Given the description of an element on the screen output the (x, y) to click on. 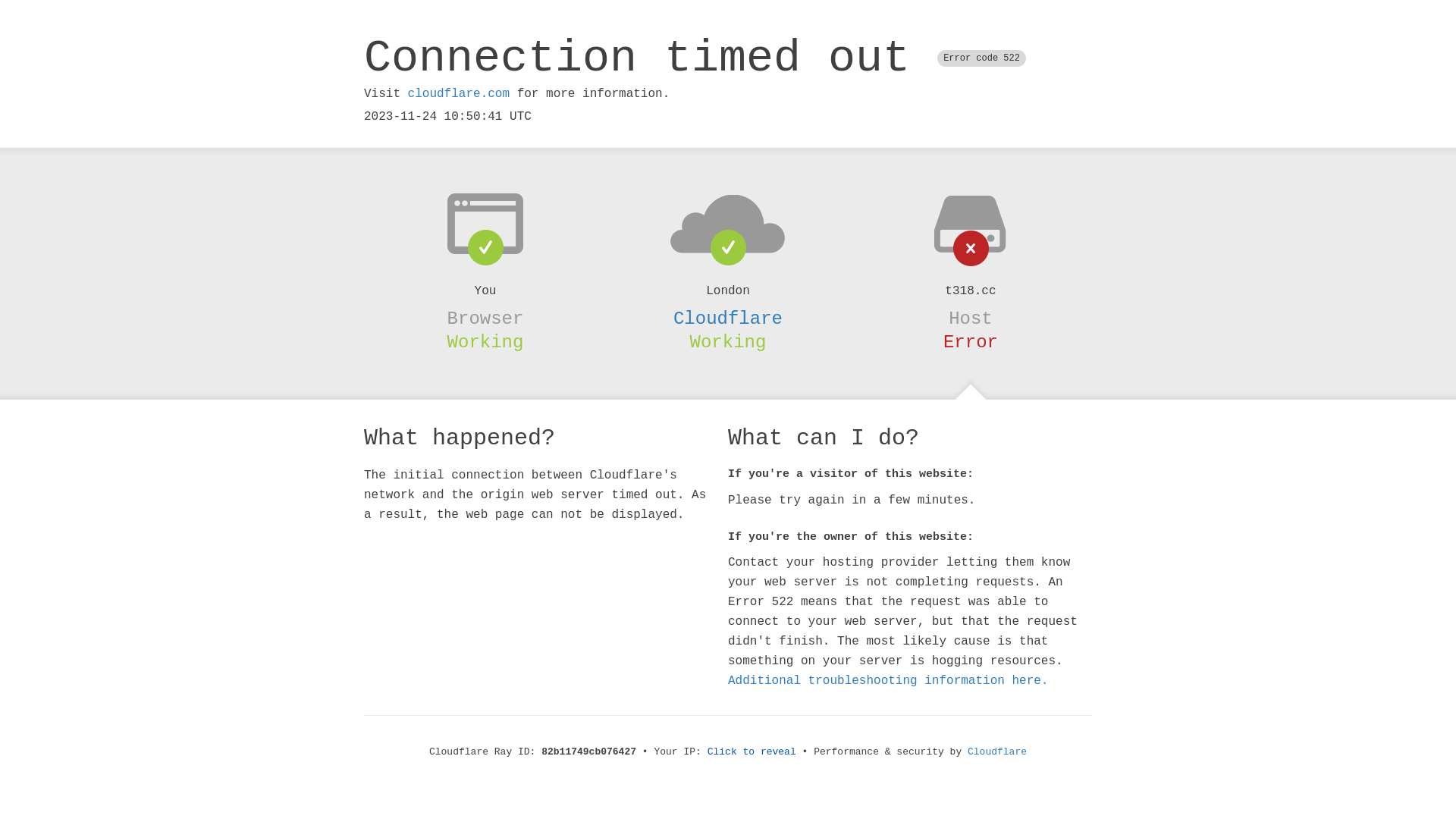
Cloudflare Element type: text (996, 751)
Cloudflare Element type: text (727, 318)
Click to reveal Element type: text (751, 751)
Additional troubleshooting information here. Element type: text (888, 680)
cloudflare.com Element type: text (458, 93)
